Given the description of an element on the screen output the (x, y) to click on. 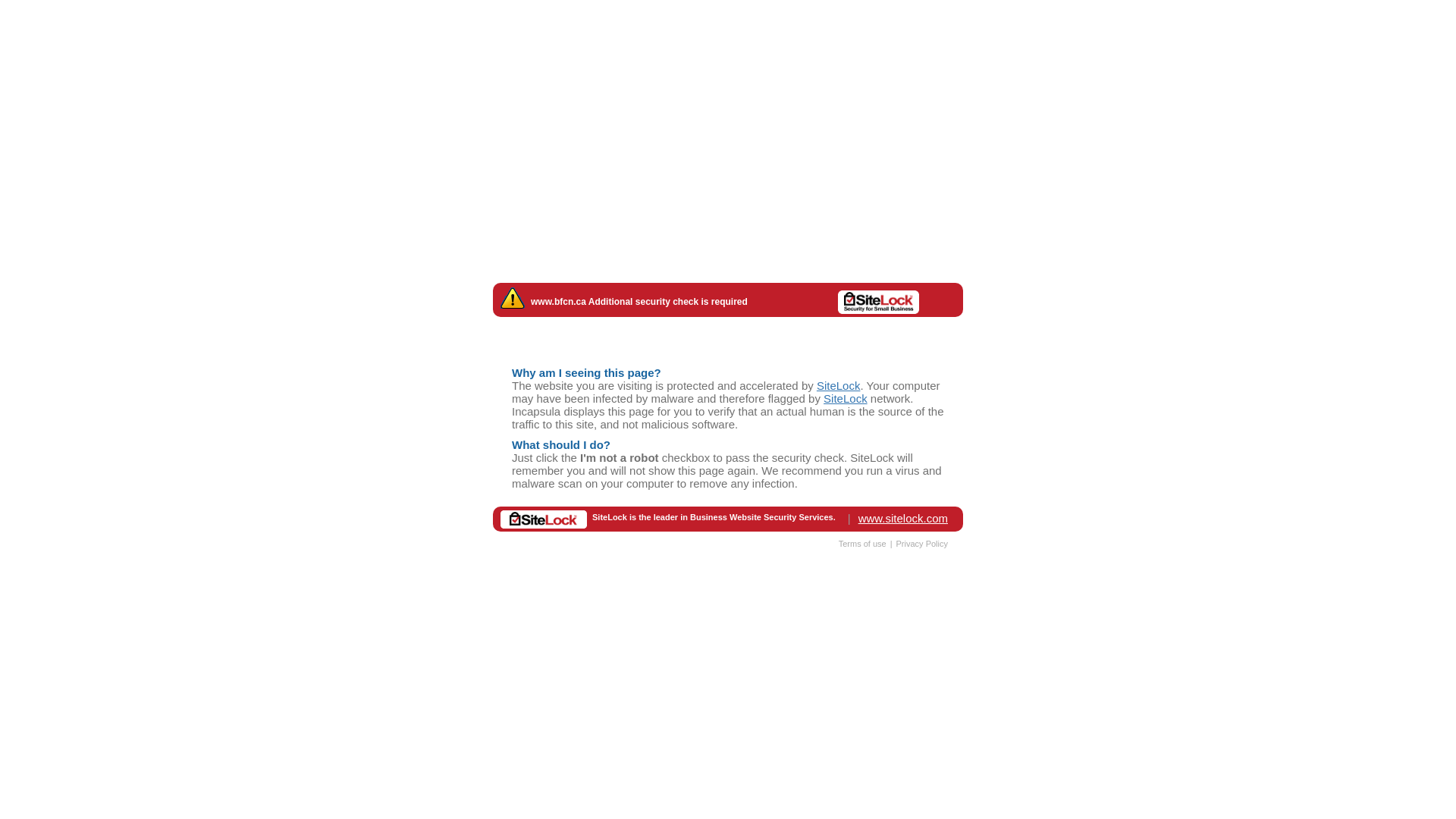
SiteLock Element type: text (838, 385)
Terms of use Element type: text (862, 542)
SiteLock Element type: text (845, 397)
Privacy Policy Element type: text (921, 542)
www.sitelock.com Element type: text (902, 517)
